Given the description of an element on the screen output the (x, y) to click on. 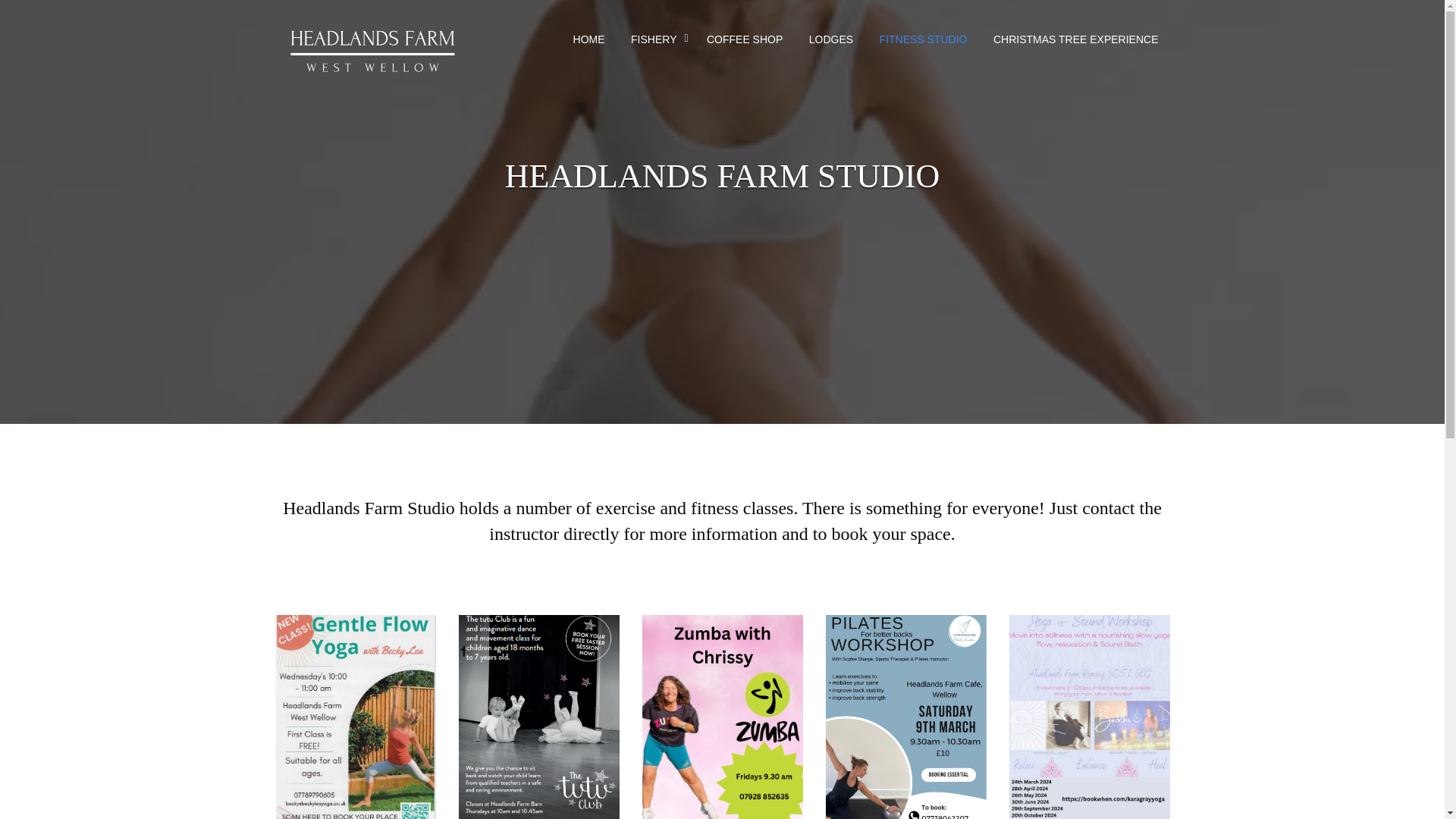
CHRISTMAS TREE EXPERIENCE (1075, 39)
COFFEE SHOP (744, 39)
FITNESS STUDIO (922, 39)
FISHERY (655, 39)
LODGES (830, 39)
HOME (588, 39)
